Given the description of an element on the screen output the (x, y) to click on. 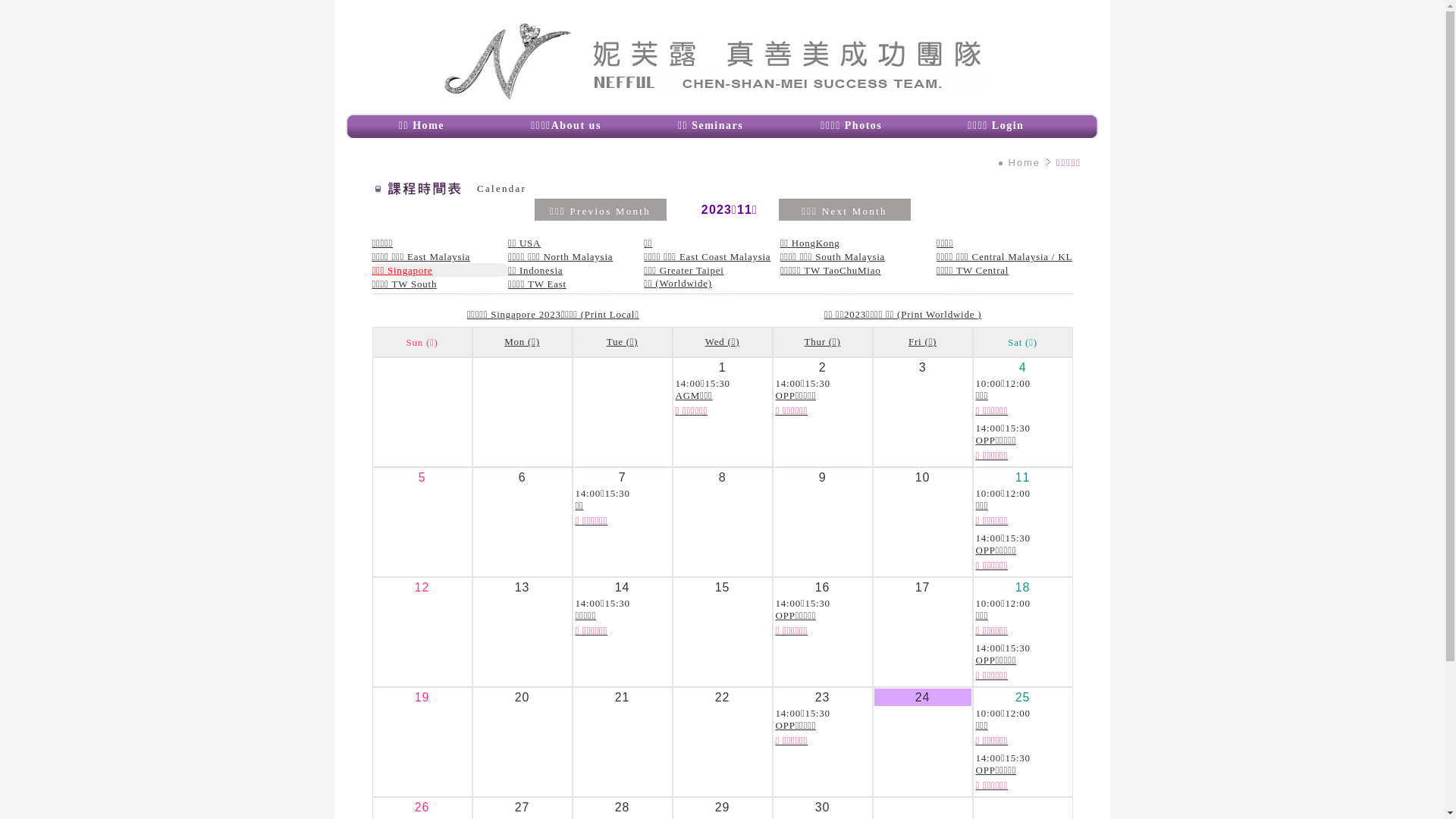
) Element type: text (979, 314)
